Given the description of an element on the screen output the (x, y) to click on. 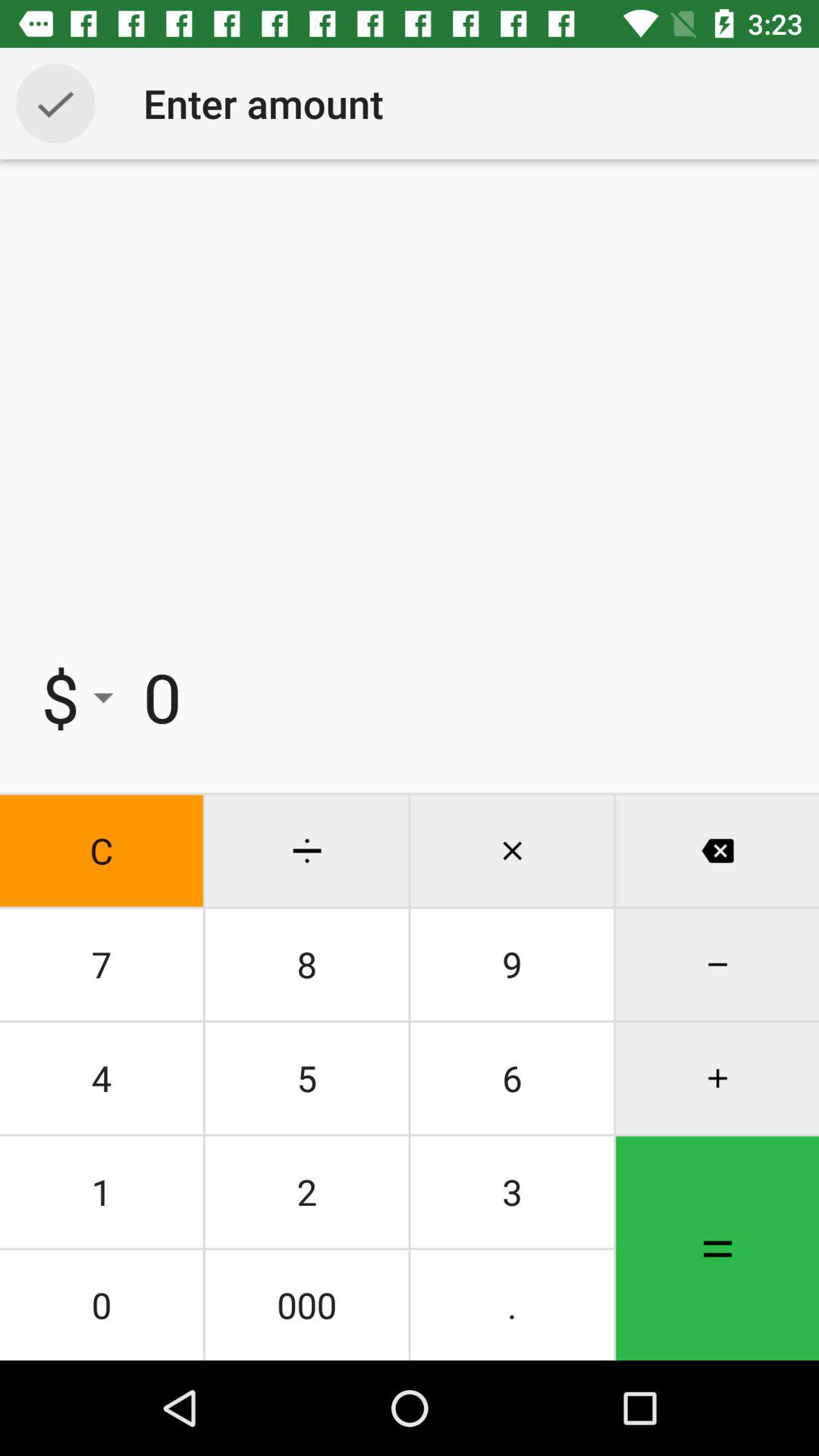
open the item to the right of the 7 item (306, 1078)
